Given the description of an element on the screen output the (x, y) to click on. 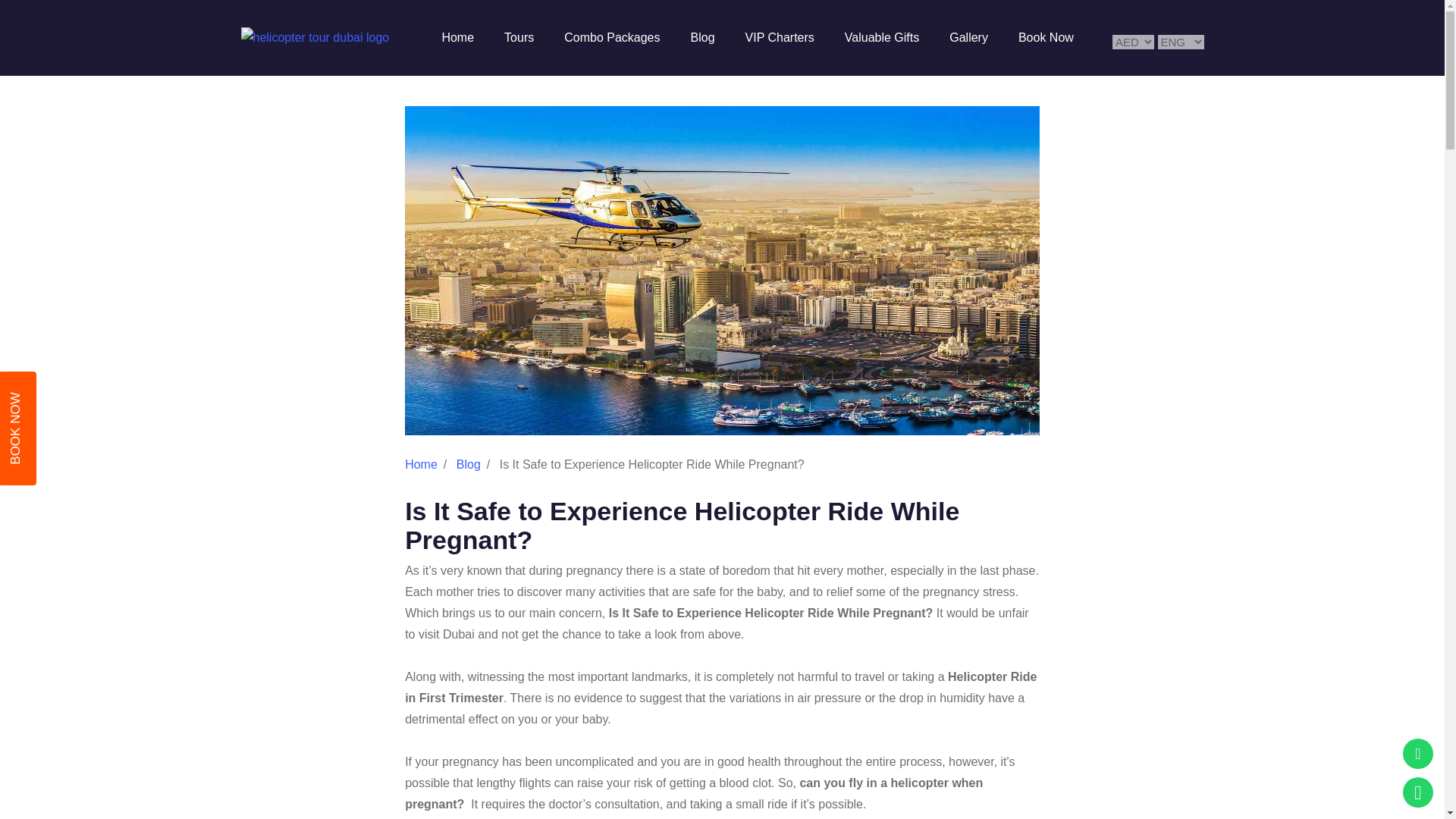
Combo Packages (611, 37)
Home (457, 37)
BOOK NOW (56, 390)
Home (421, 463)
Blog (702, 37)
Valuable Gifts (881, 37)
VIP Charters (779, 37)
Blog (468, 463)
Book Now (1045, 37)
Tours (518, 37)
